Given the description of an element on the screen output the (x, y) to click on. 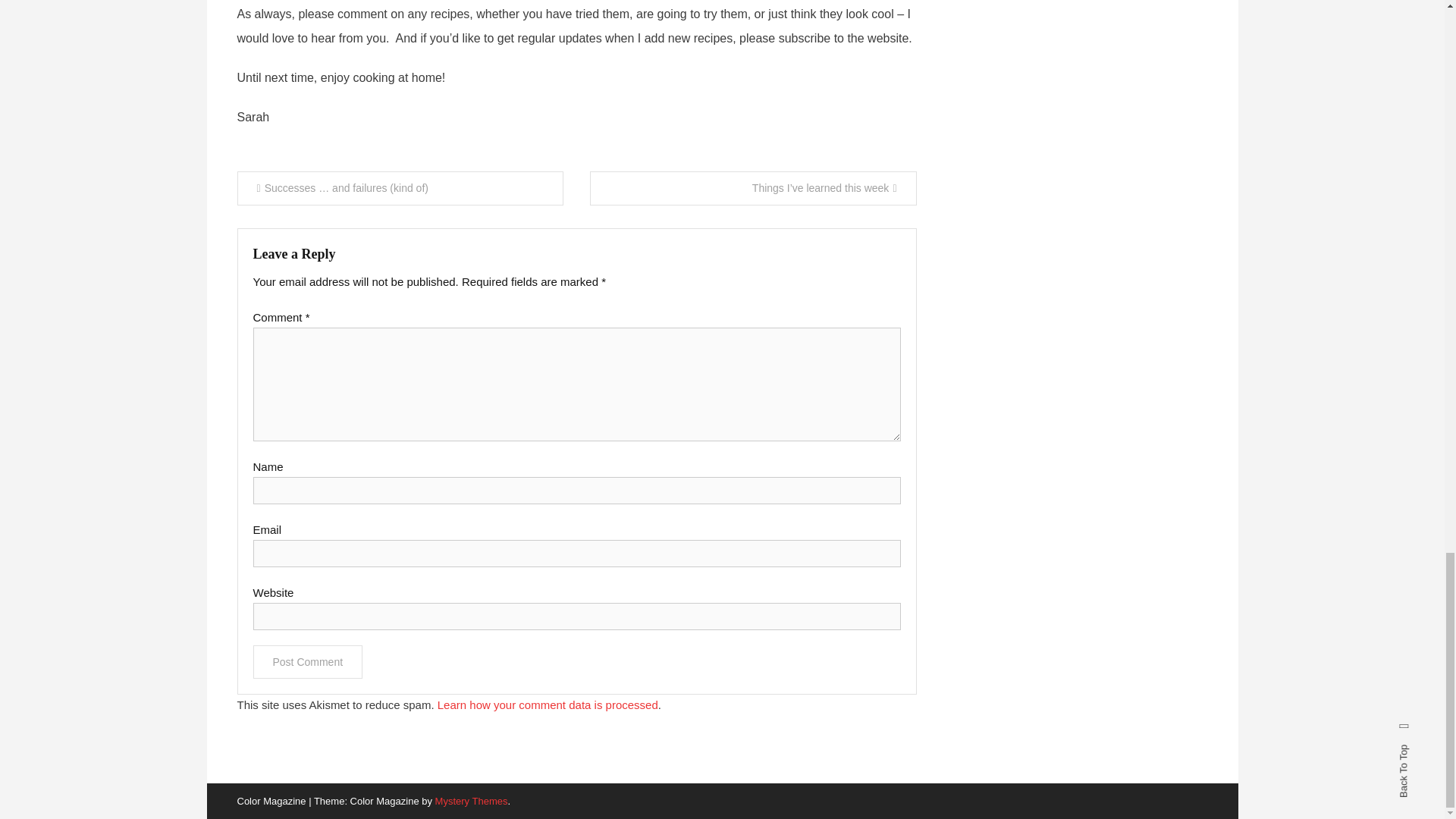
Post Comment (307, 661)
